Given the description of an element on the screen output the (x, y) to click on. 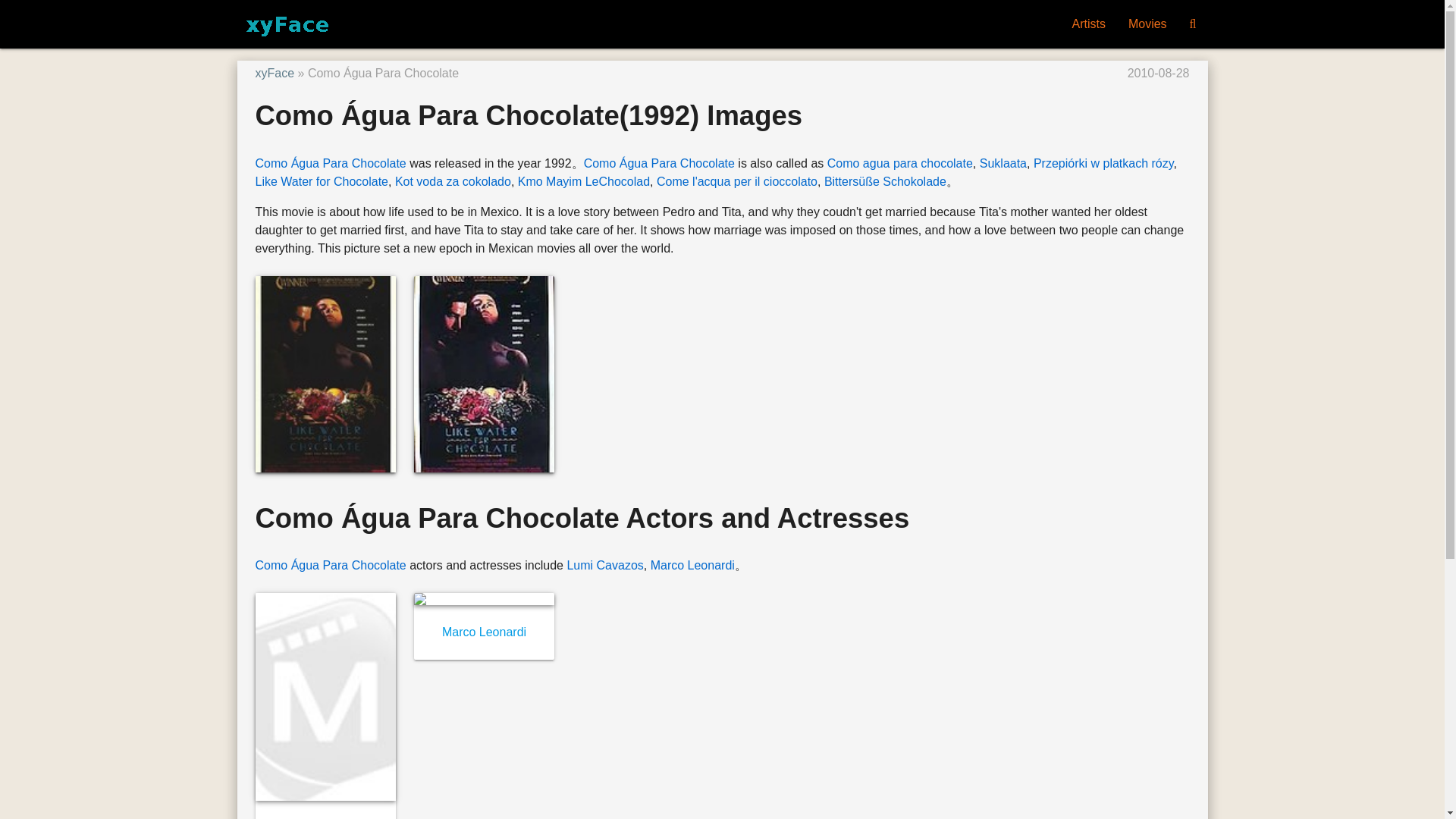
Suklaata (1002, 163)
Marco Leonardi (692, 564)
Artists (1087, 24)
Kot voda za cokolado (452, 181)
Like Water for Chocolate (320, 181)
Movies (1146, 24)
Marco Leonardi (483, 631)
Lumi Cavazos (604, 564)
Kmo Mayim LeChocolad (583, 181)
xyFace (274, 72)
